Given the description of an element on the screen output the (x, y) to click on. 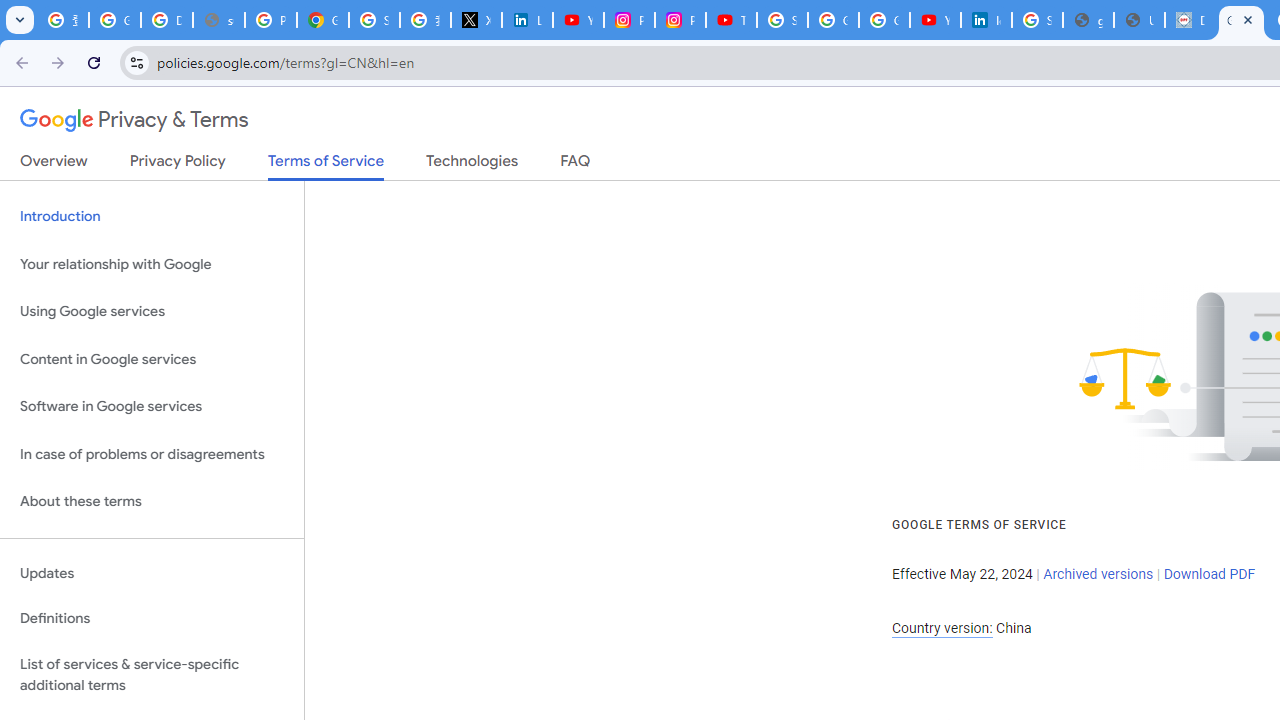
Your relationship with Google (152, 263)
Using Google services (152, 312)
About these terms (152, 502)
Technologies (472, 165)
Reload (93, 62)
